Given the description of an element on the screen output the (x, y) to click on. 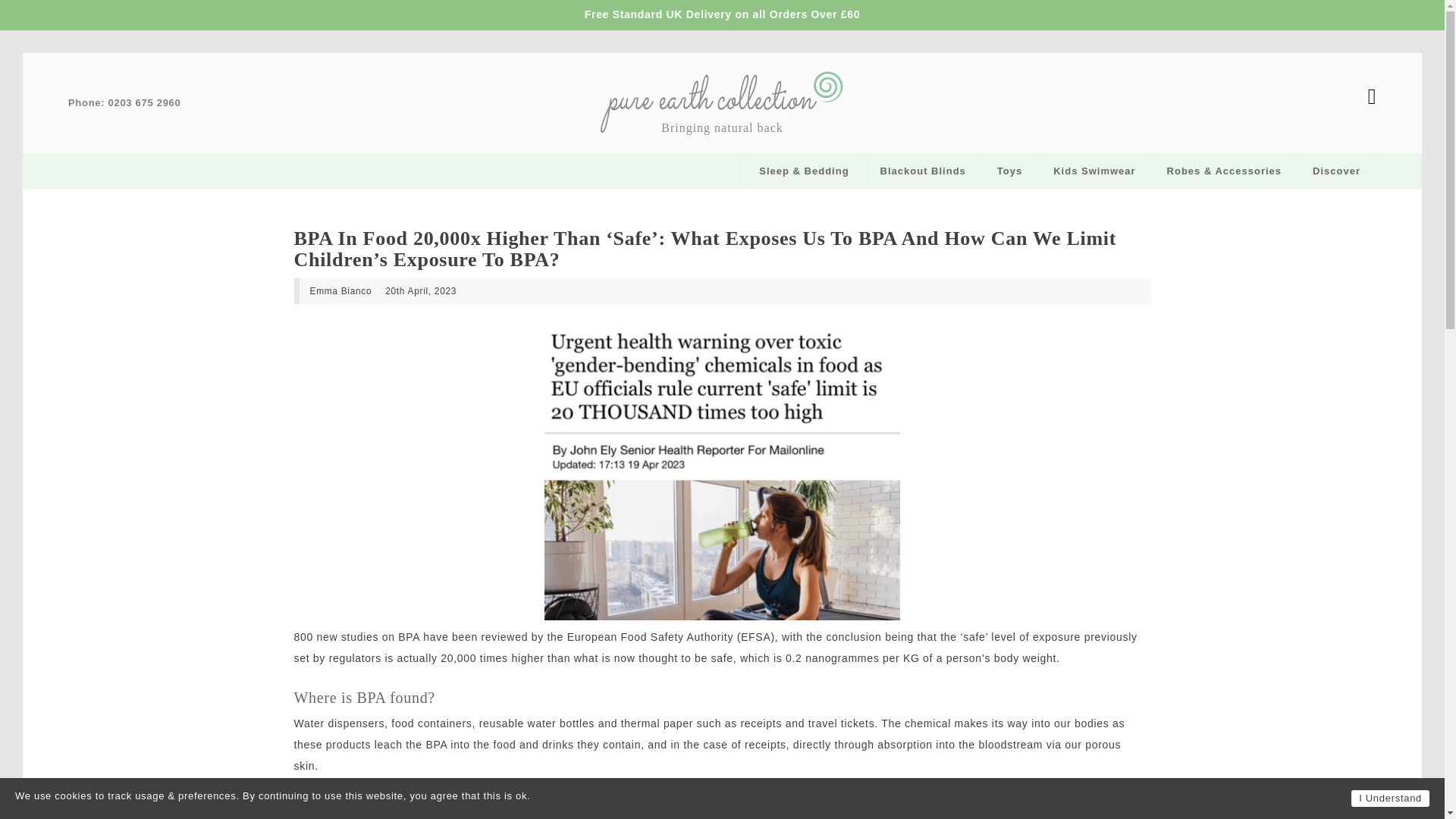
Blackout Blinds (922, 171)
I Understand (1390, 798)
Discover (1336, 171)
Kids Swimwear (1094, 171)
Toys (1008, 171)
